Given the description of an element on the screen output the (x, y) to click on. 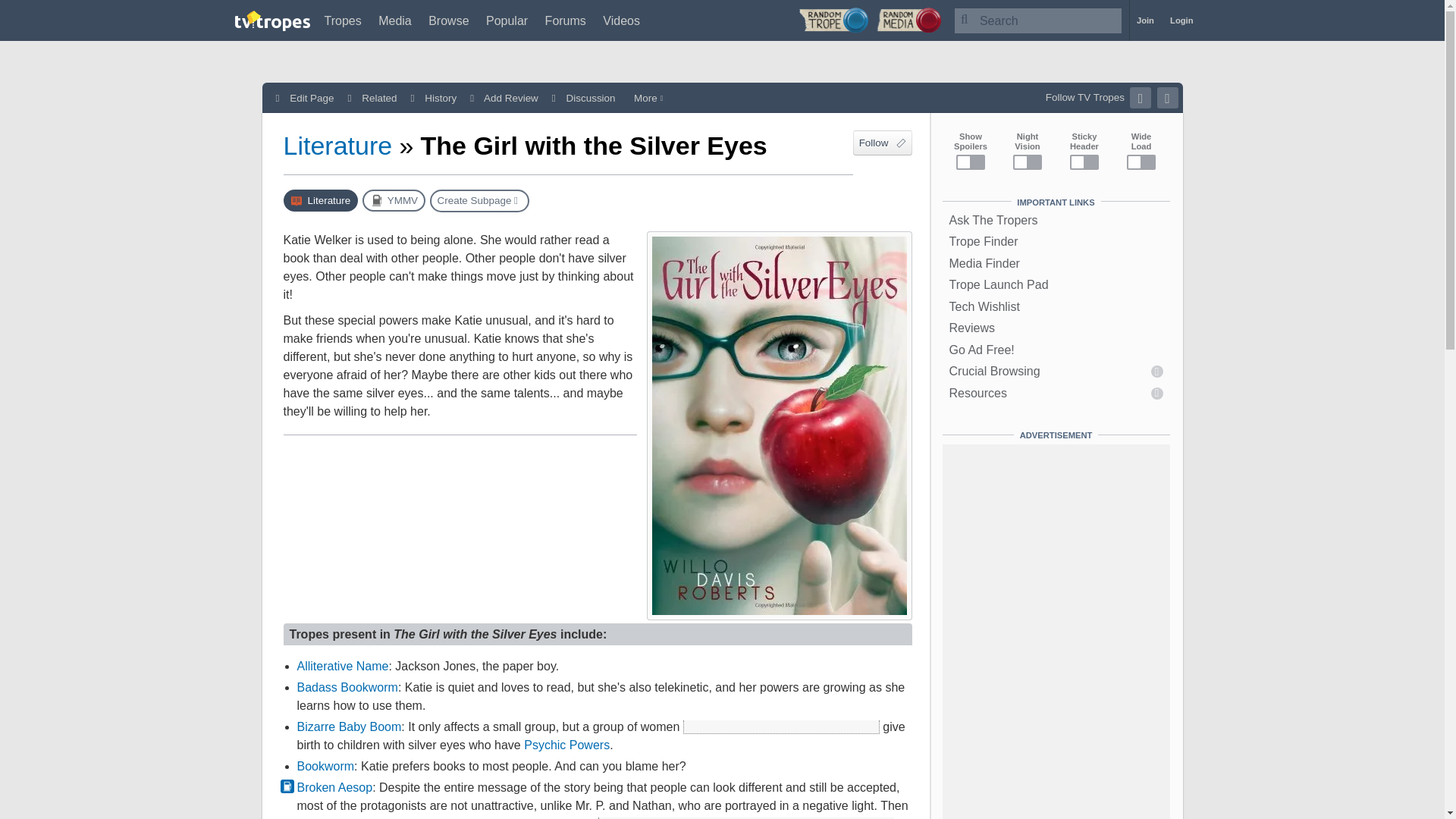
Videos (621, 20)
you can set spoilers visible by default on your profile (780, 726)
Media (395, 20)
Forums (565, 20)
Browse (448, 20)
The Literature page (320, 200)
Tropes (342, 20)
Login (1181, 20)
The YMMV page (393, 200)
Popular (506, 20)
